Given the description of an element on the screen output the (x, y) to click on. 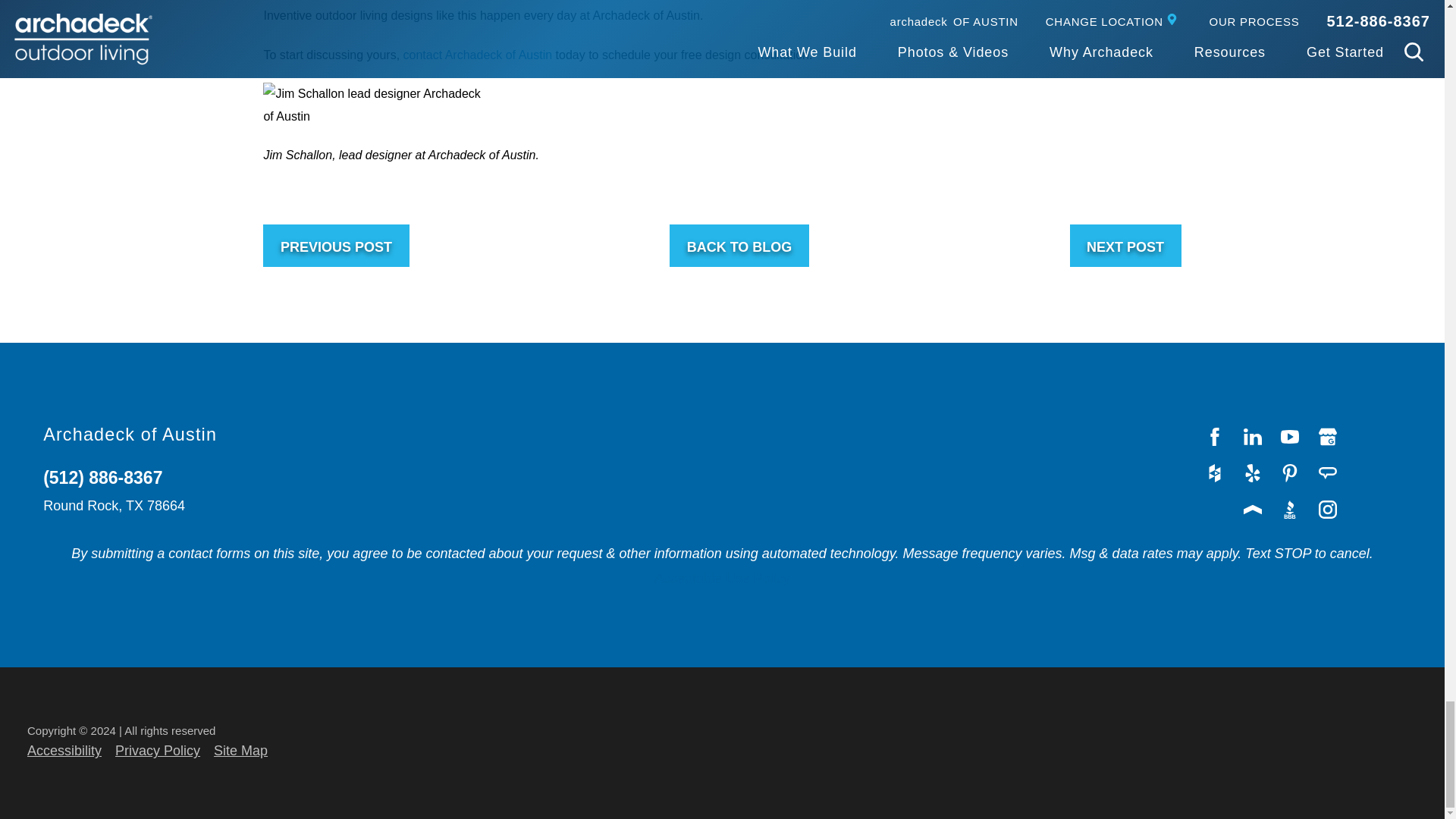
Porch (1253, 509)
Instagram (1328, 509)
YouTube (1289, 436)
Angie's List (1328, 473)
Yelp (1253, 473)
Google My Business (1328, 436)
Houzz (1215, 473)
BBB (1289, 509)
LinkedIn (1253, 436)
Pinterest (1289, 473)
